Given the description of an element on the screen output the (x, y) to click on. 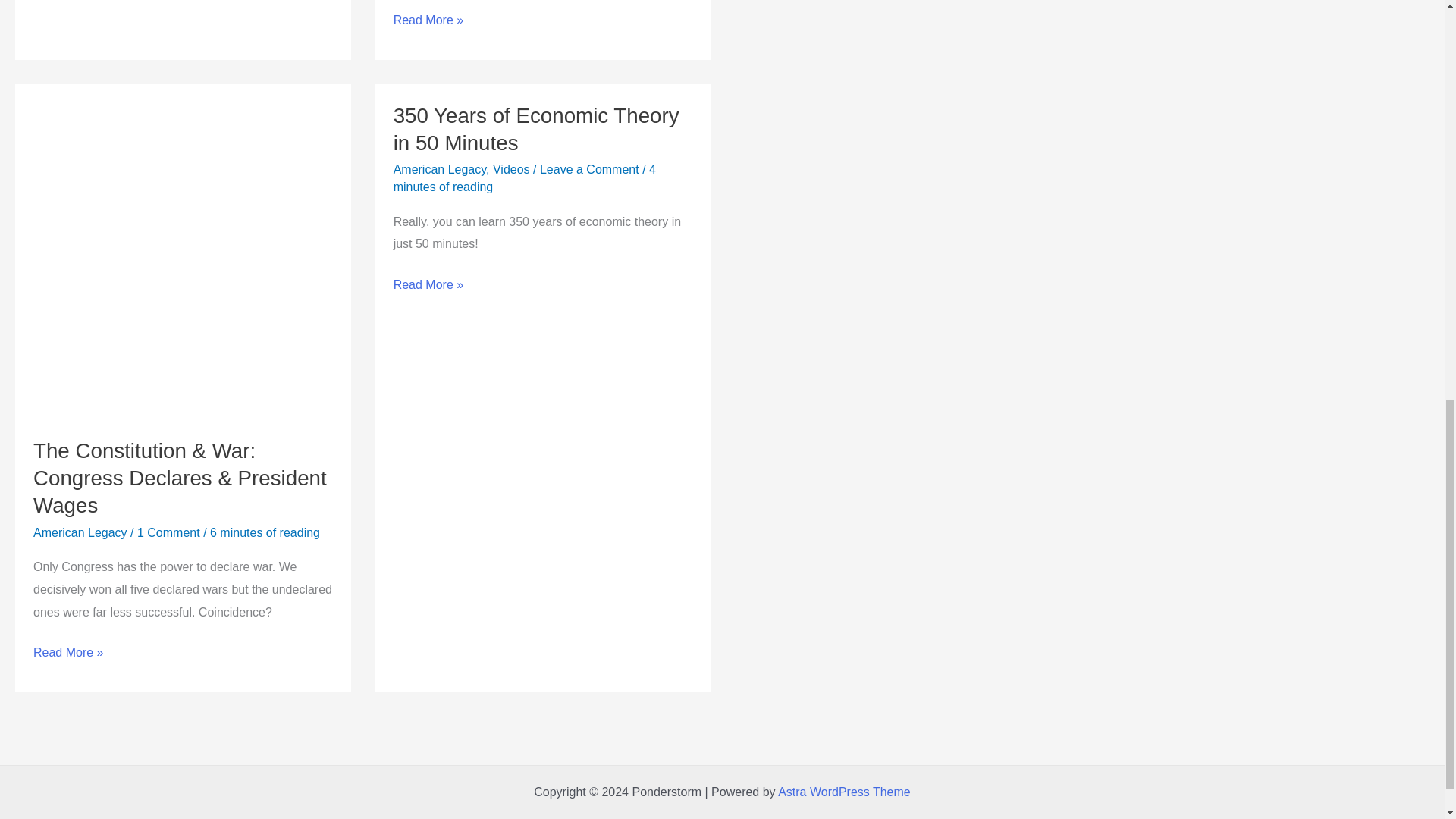
Videos (511, 169)
350 Years of Economic Theory in 50 Minutes (536, 129)
1 Comment (168, 532)
American Legacy (80, 532)
American Legacy (439, 169)
Leave a Comment (589, 169)
